Given the description of an element on the screen output the (x, y) to click on. 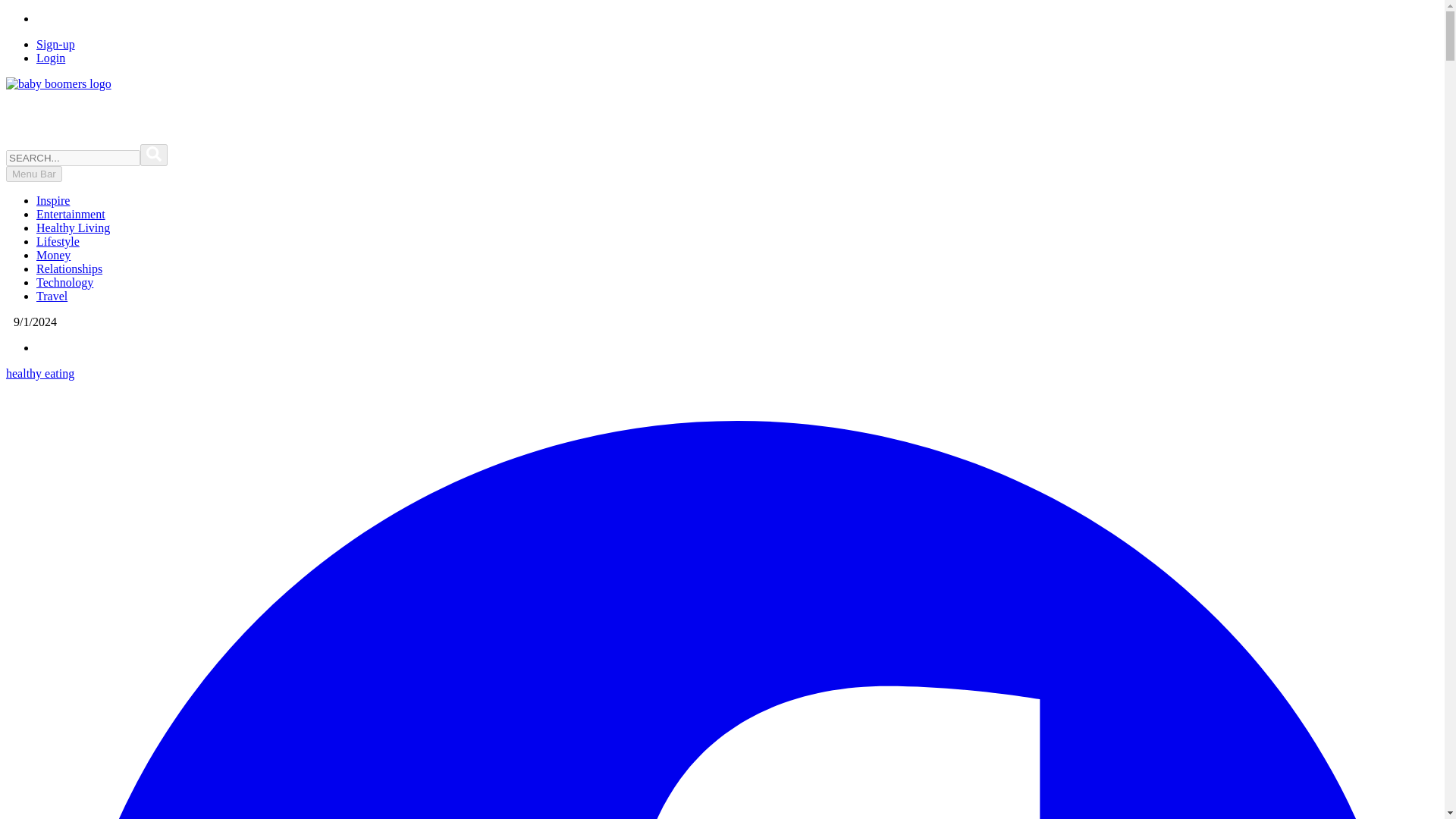
Healthy Living (73, 227)
healthy eating (39, 373)
Sign-up (55, 43)
Menu Bar (33, 173)
Entertainment (70, 214)
Travel (51, 295)
Technology (64, 282)
Relationships (68, 268)
Money (52, 254)
Inspire (52, 200)
